Given the description of an element on the screen output the (x, y) to click on. 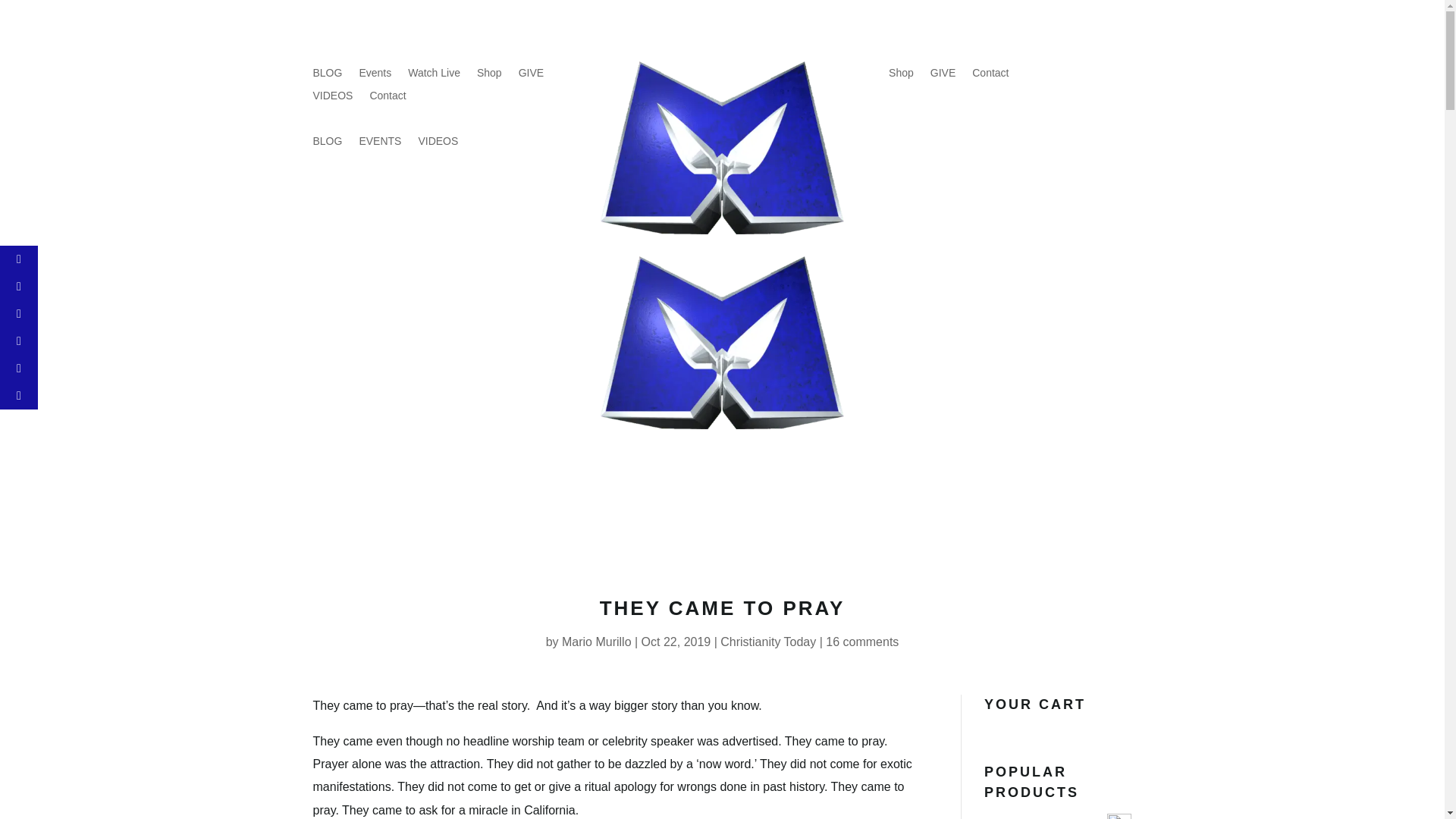
Contact (990, 75)
BLOG (327, 75)
Shop (489, 75)
GIVE (530, 75)
VIDEOS (437, 143)
BLOG (327, 143)
MM-logo-web-480x341 (721, 147)
Posts by Mario Murillo (596, 641)
Christianity Today (767, 641)
VIDEOS (332, 98)
